Given the description of an element on the screen output the (x, y) to click on. 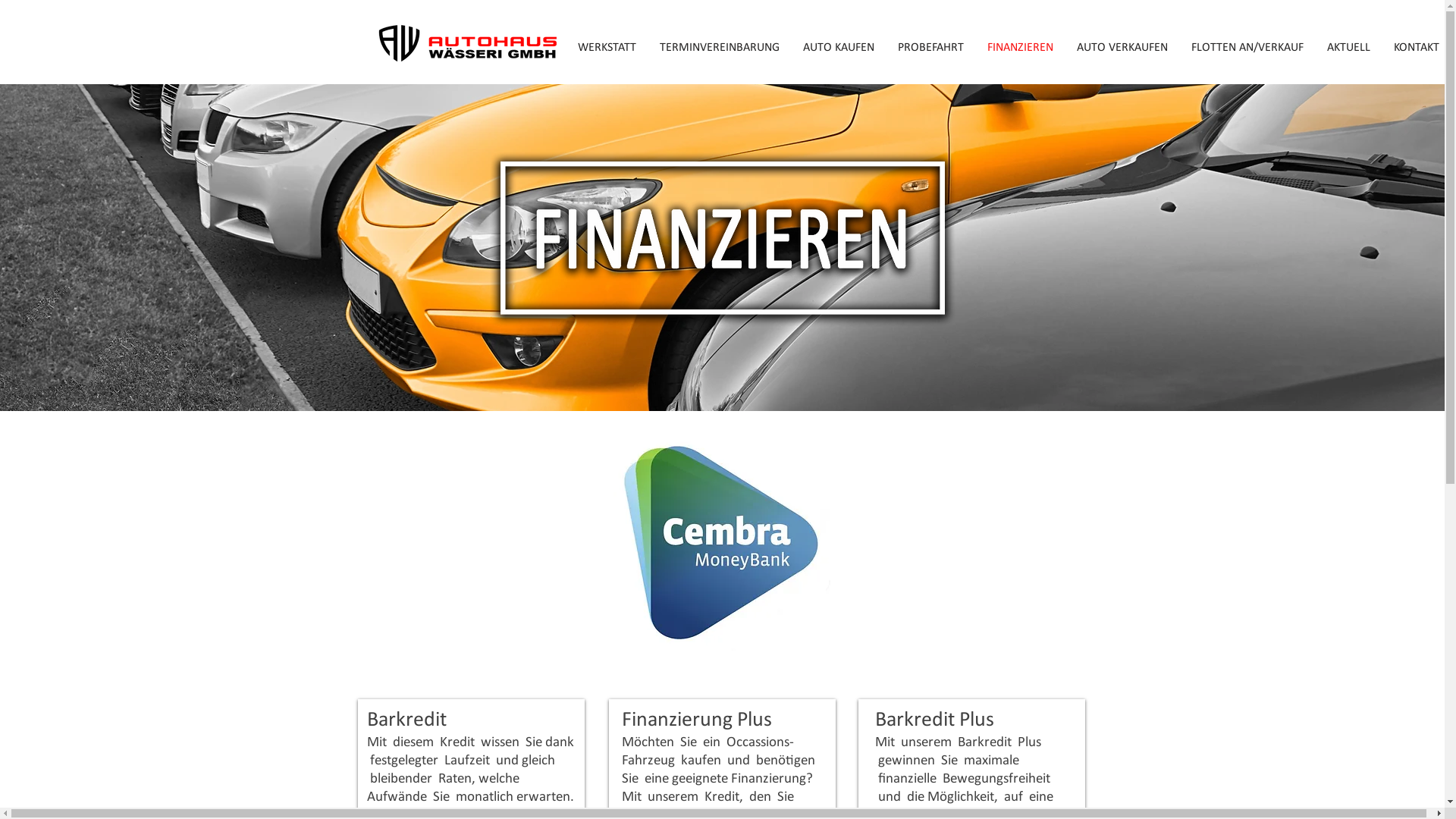
PROBEFAHRT Element type: text (930, 47)
AUTO VERKAUFEN Element type: text (1121, 47)
FINANZIEREN Element type: text (1019, 47)
WERKSTATT Element type: text (606, 47)
KONTAKT Element type: text (1415, 47)
AKTUELL Element type: text (1347, 47)
FLOTTEN AN/VERKAUF Element type: text (1247, 47)
AUTO KAUFEN Element type: text (838, 47)
TERMINVEREINBARUNG Element type: text (718, 47)
